Given the description of an element on the screen output the (x, y) to click on. 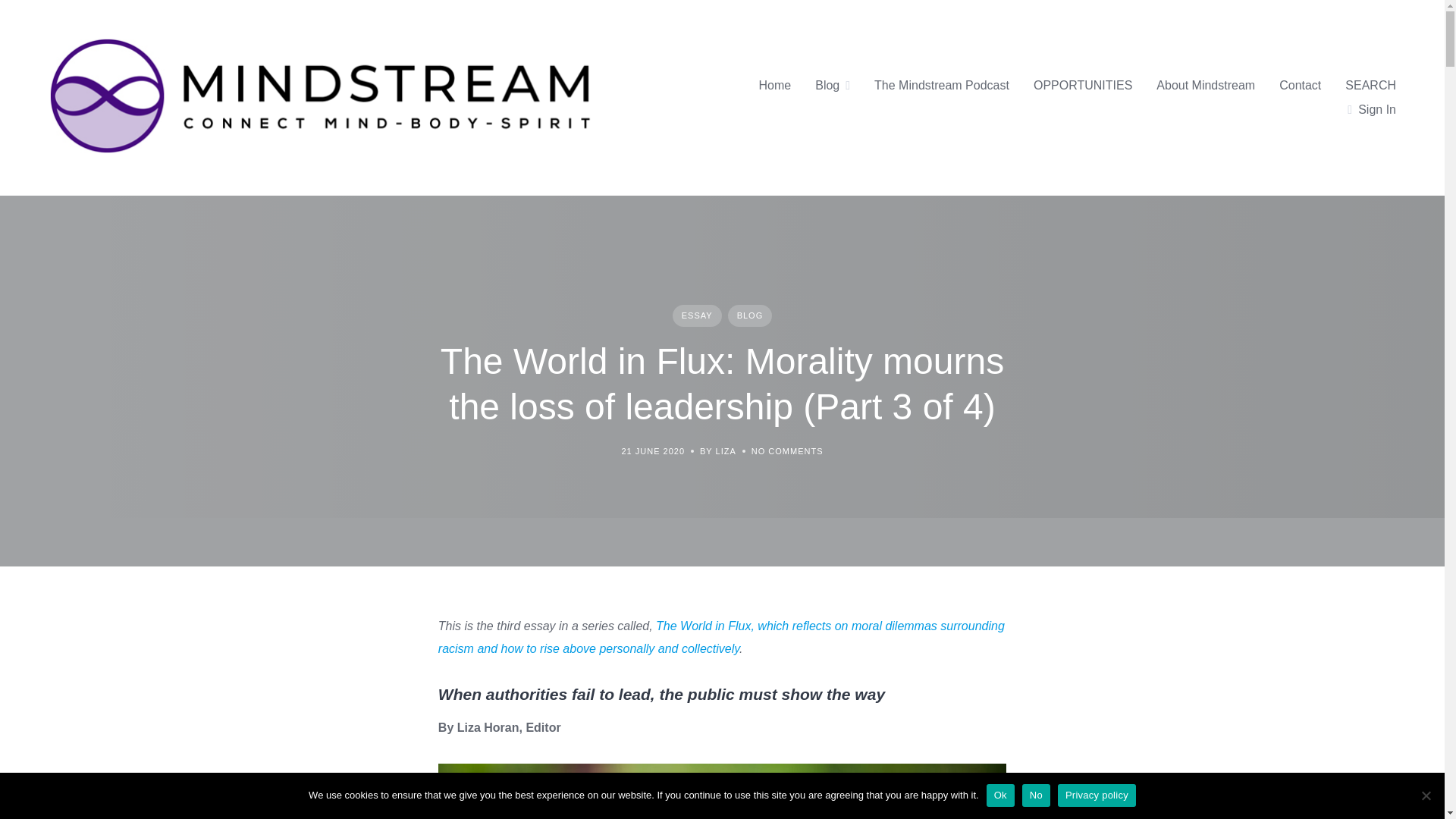
Blog (827, 85)
ESSAY (697, 315)
No (1425, 795)
NO COMMENTS (787, 451)
Sign In (1372, 109)
SEARCH (1370, 85)
The Mindstream Podcast (942, 85)
OPPORTUNITIES (1082, 85)
Home (775, 85)
BLOG (750, 315)
About Mindstream (1205, 85)
Contact (1299, 85)
